Given the description of an element on the screen output the (x, y) to click on. 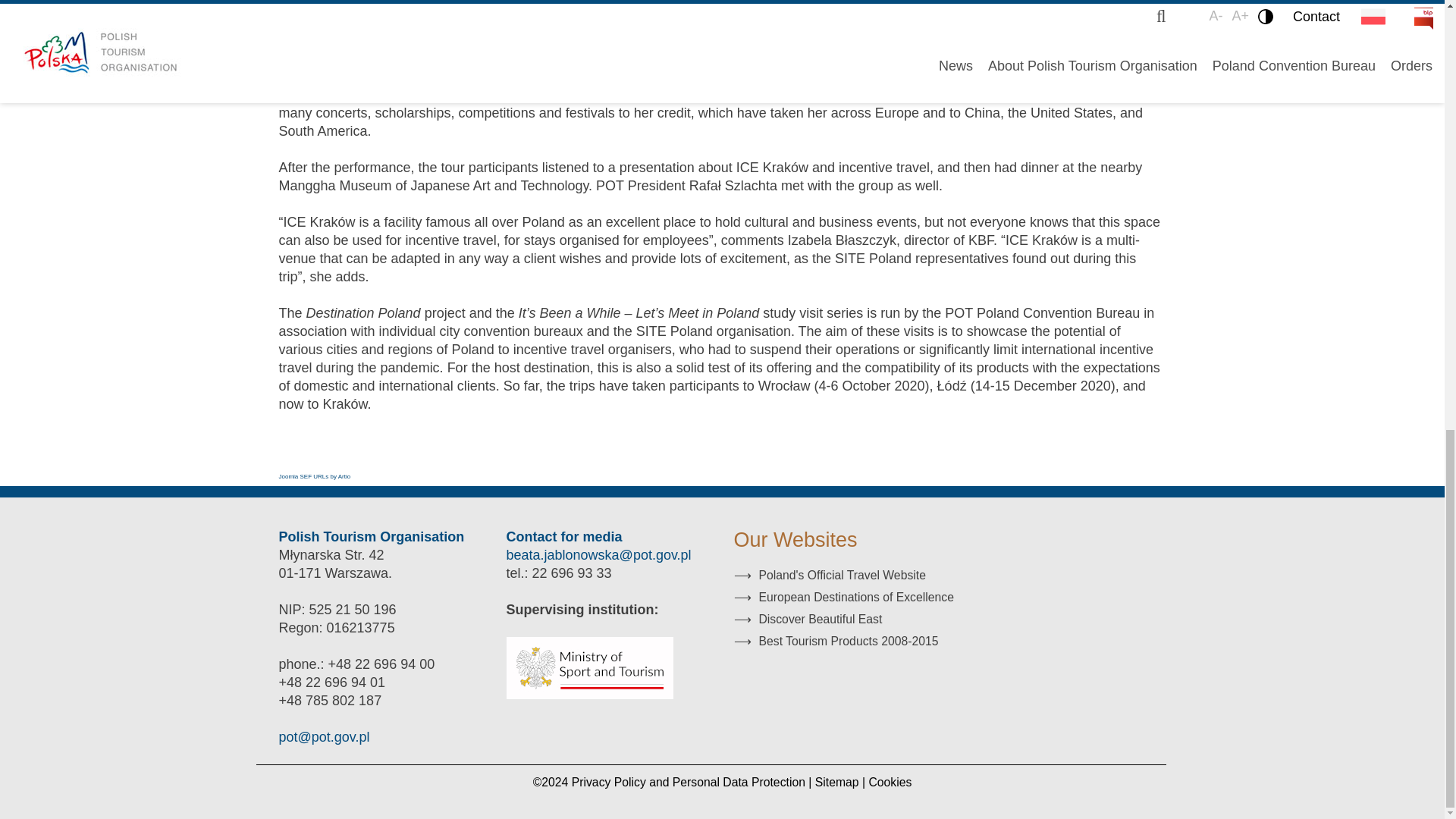
Polska Podaj Dalej - link open in new tab (836, 641)
